Given the description of an element on the screen output the (x, y) to click on. 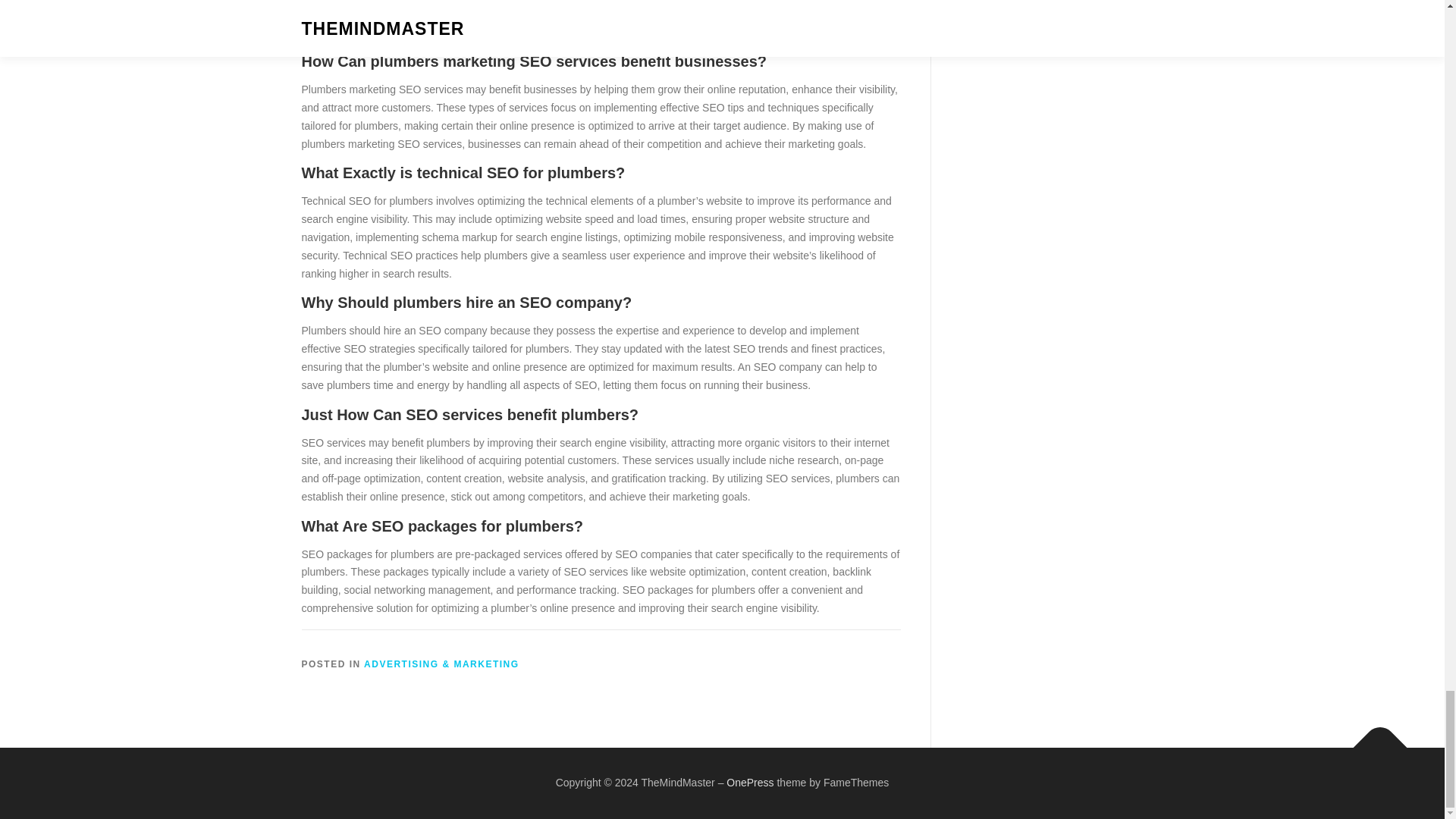
Back To Top (1372, 740)
